Given the description of an element on the screen output the (x, y) to click on. 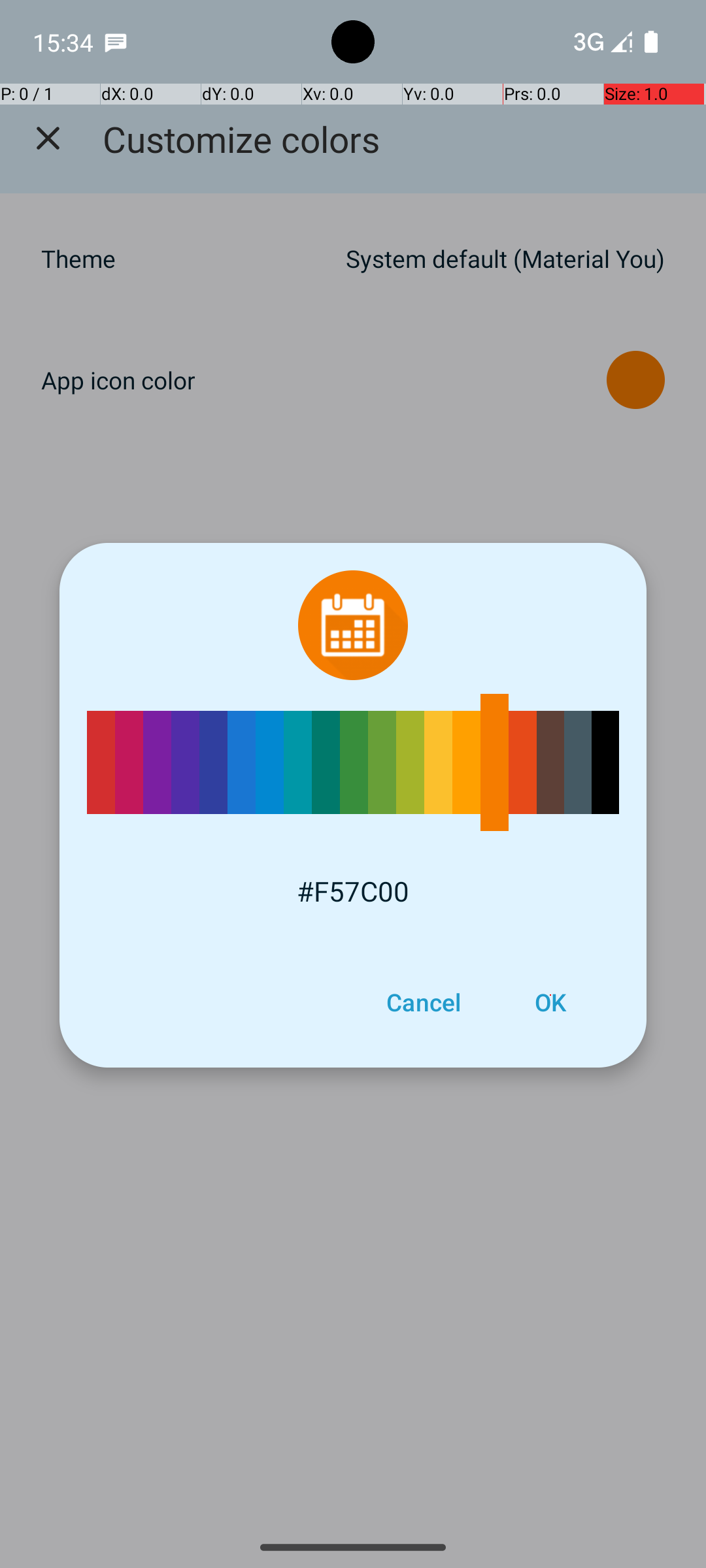
#F57C00 Element type: android.widget.TextView (352, 890)
